Given the description of an element on the screen output the (x, y) to click on. 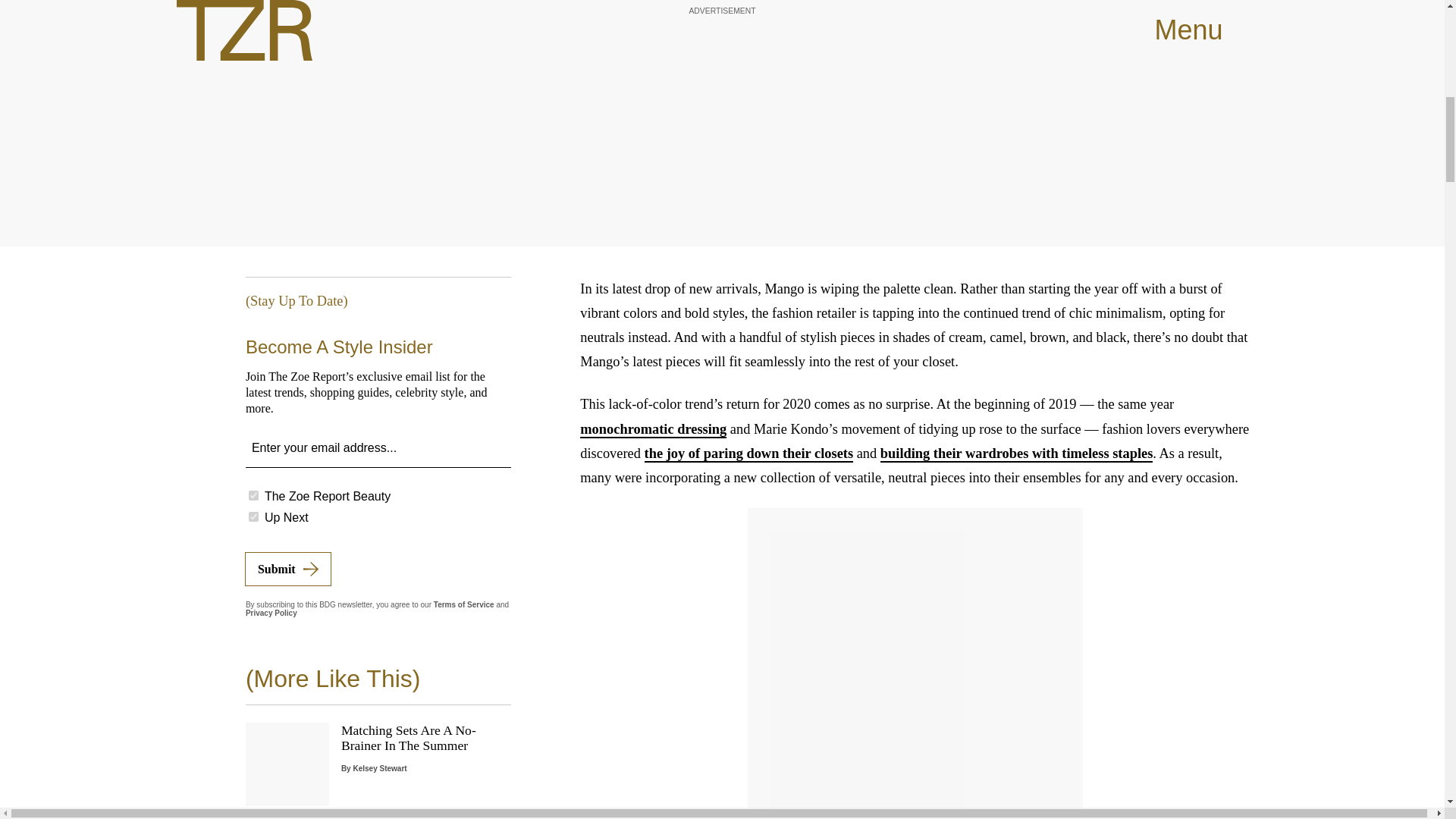
the joy of paring down their closets (749, 453)
monochromatic dressing (652, 429)
building their wardrobes with timeless staples (1016, 453)
